Given the description of an element on the screen output the (x, y) to click on. 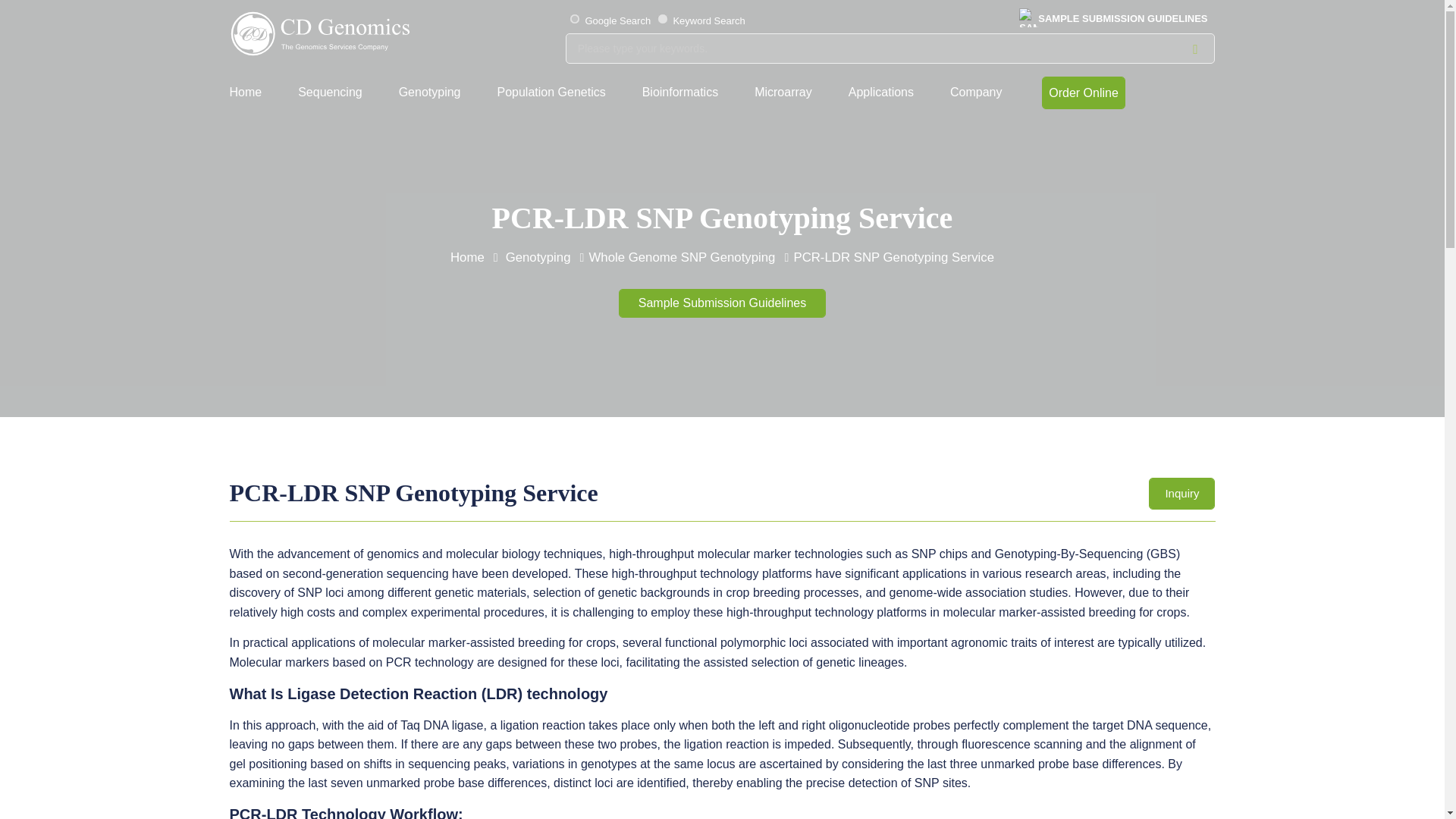
1 (663, 18)
SAMPLE SUBMISSION GUIDELINES (1116, 19)
2 (574, 18)
Sequencing (337, 92)
Home (252, 92)
